Given the description of an element on the screen output the (x, y) to click on. 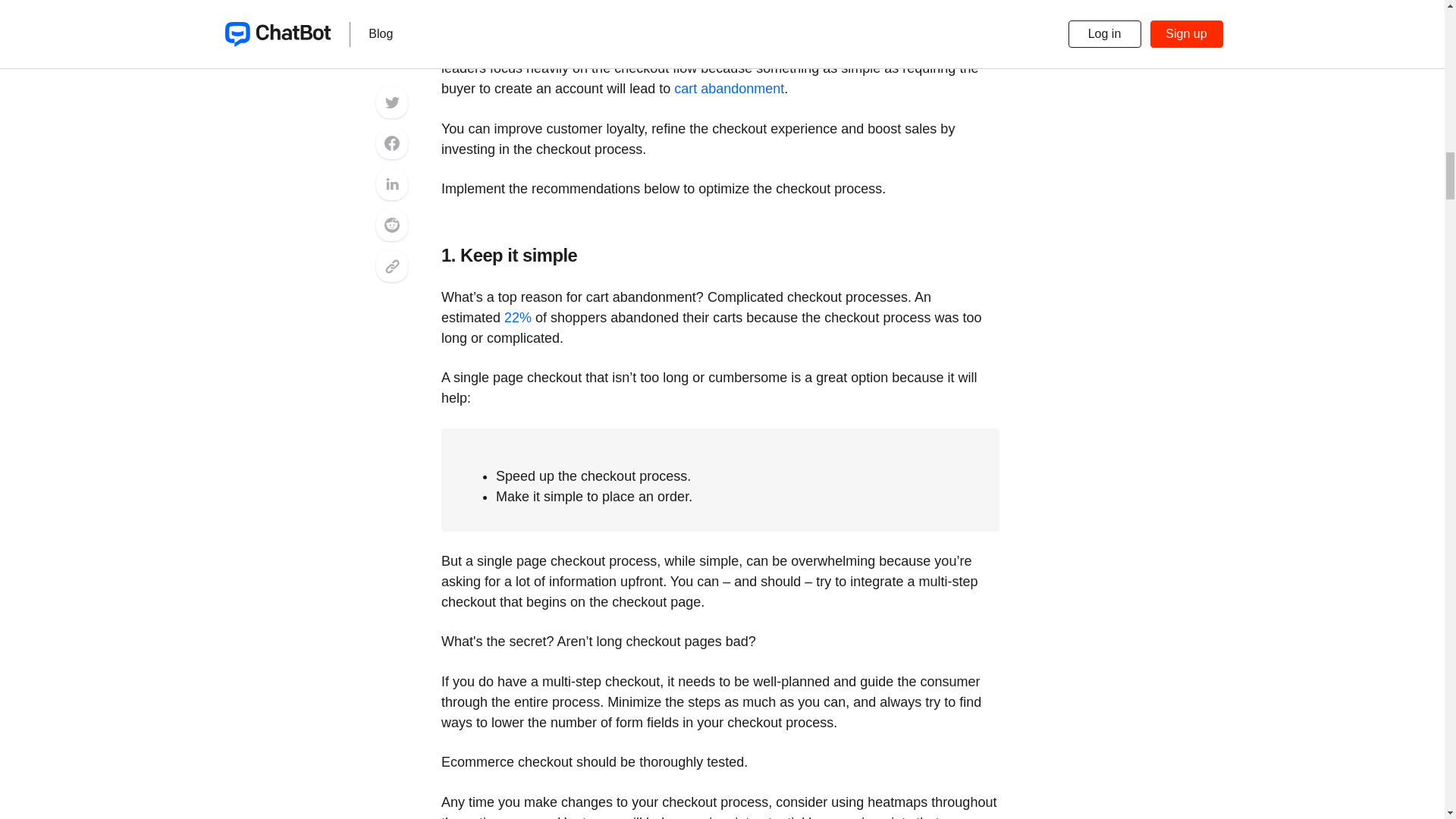
cart abandonment (729, 88)
